Given the description of an element on the screen output the (x, y) to click on. 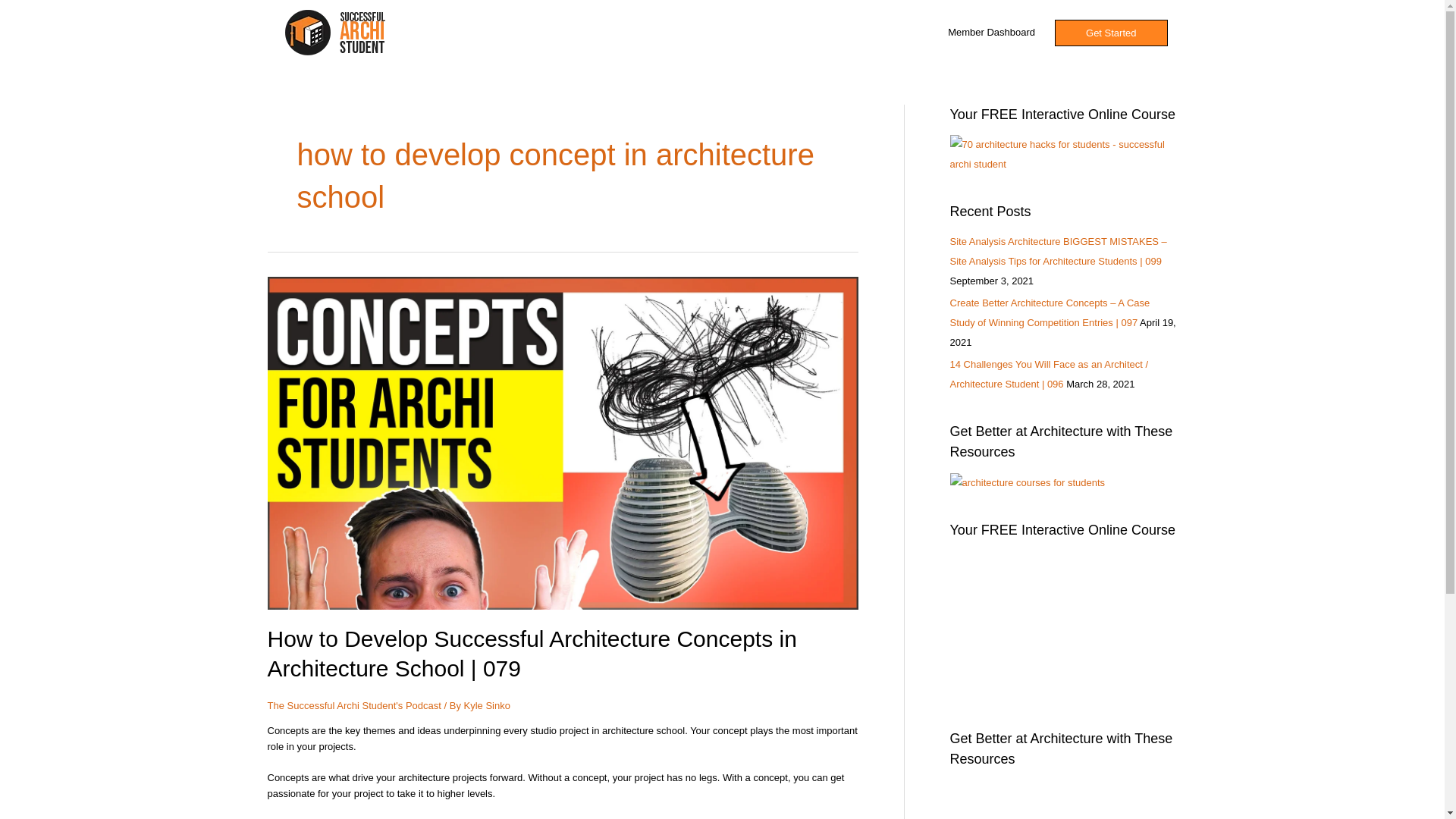
Kyle Sinko (487, 705)
Member Dashboard (991, 32)
Get Started (1110, 32)
View all posts by Kyle Sinko (487, 705)
Download the Free Archi Student's Checklist (1062, 154)
The Successful Archi Student's Podcast (353, 705)
